Given the description of an element on the screen output the (x, y) to click on. 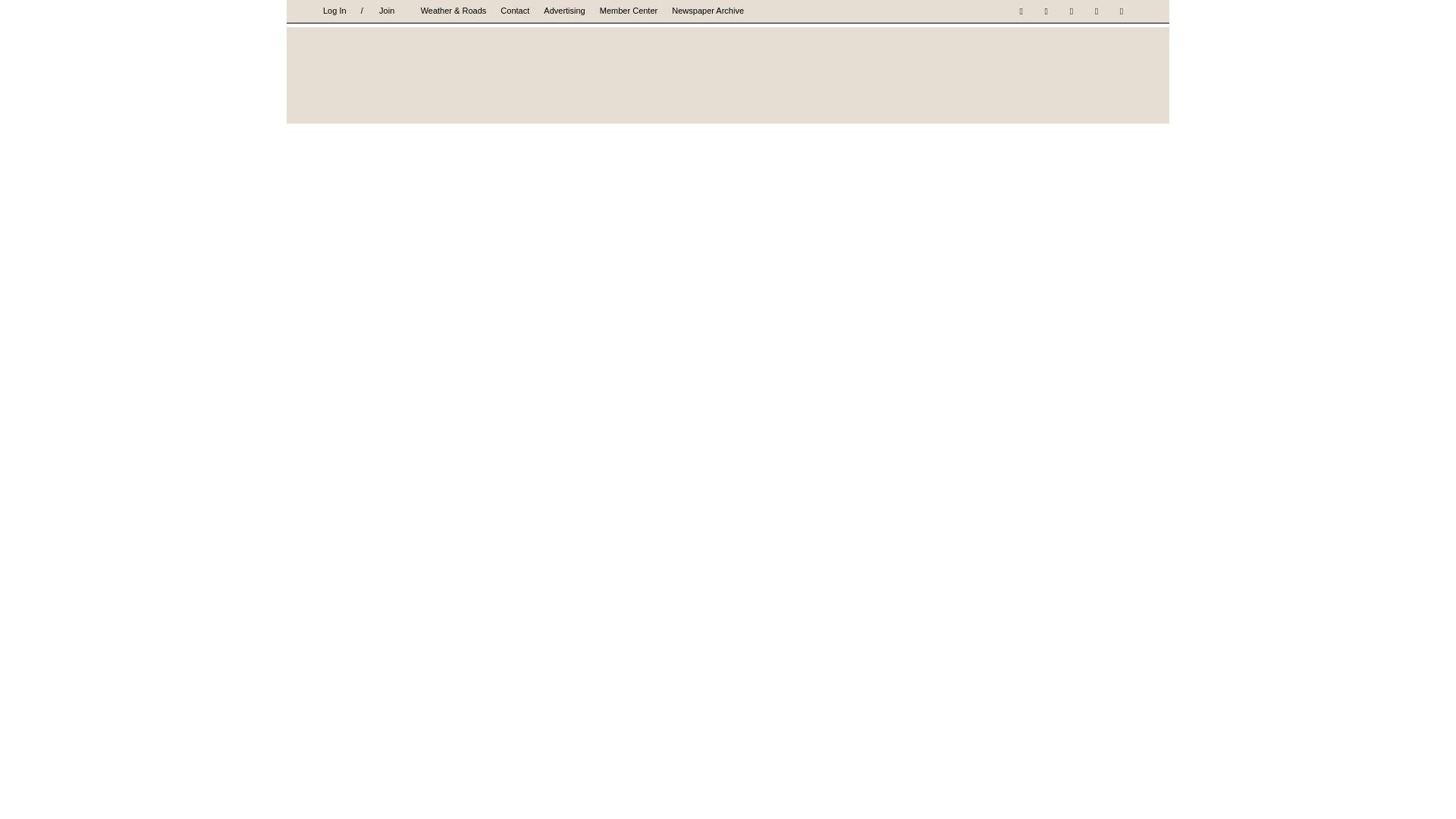
Youtube (1120, 10)
Linkedin (1071, 10)
Twitter (1096, 10)
Facebook (1021, 10)
